Given the description of an element on the screen output the (x, y) to click on. 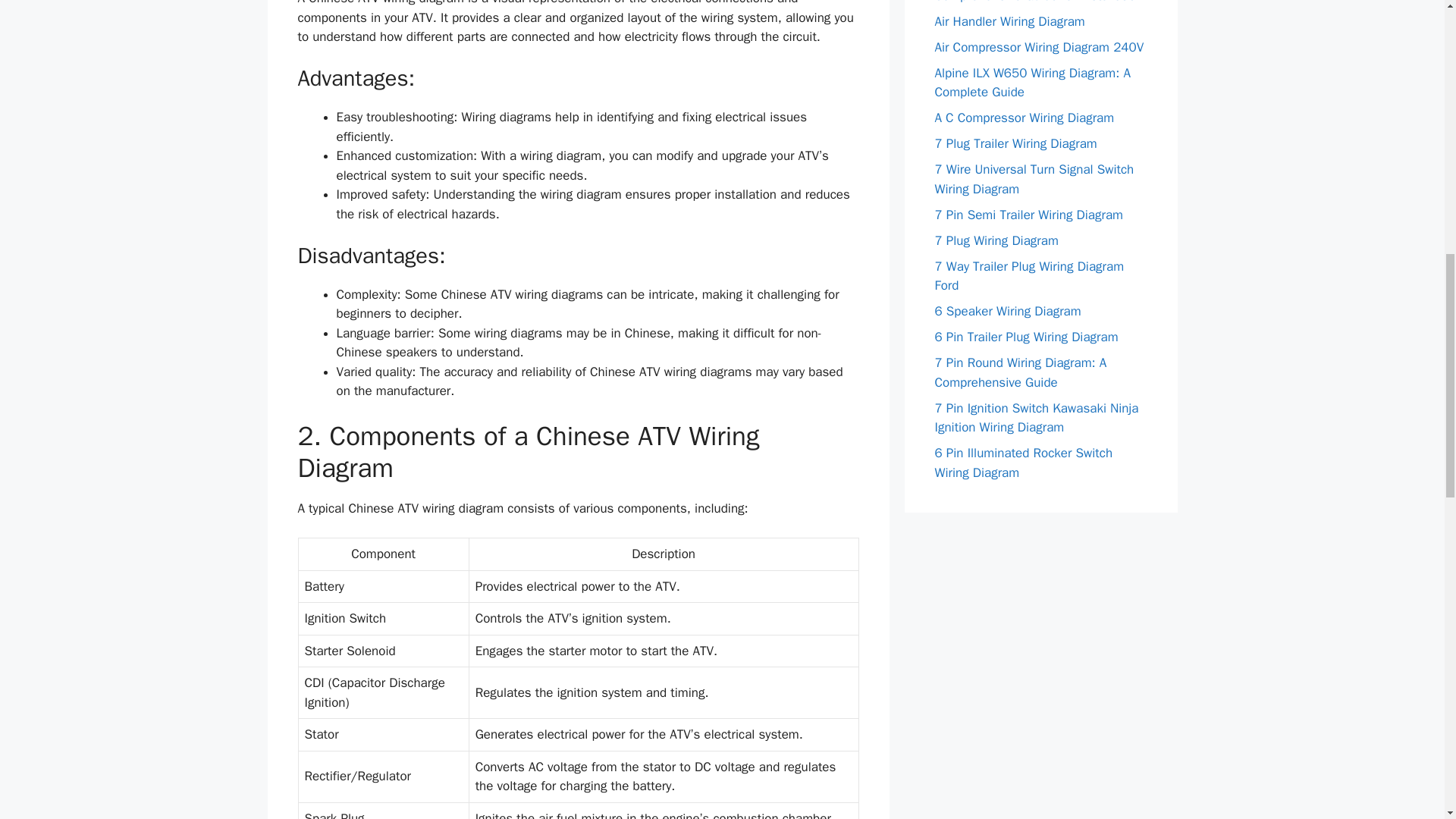
Air Compressor Wiring Diagram 240V (1038, 47)
A C Compressor Wiring Diagram (1023, 117)
7 Plug Trailer Wiring Diagram (1015, 143)
Air Handler Wiring Diagram (1009, 21)
Alpine ILX W650 Wiring Diagram: A Complete Guide (1031, 82)
7 Wire Universal Turn Signal Switch Wiring Diagram (1034, 179)
